Given the description of an element on the screen output the (x, y) to click on. 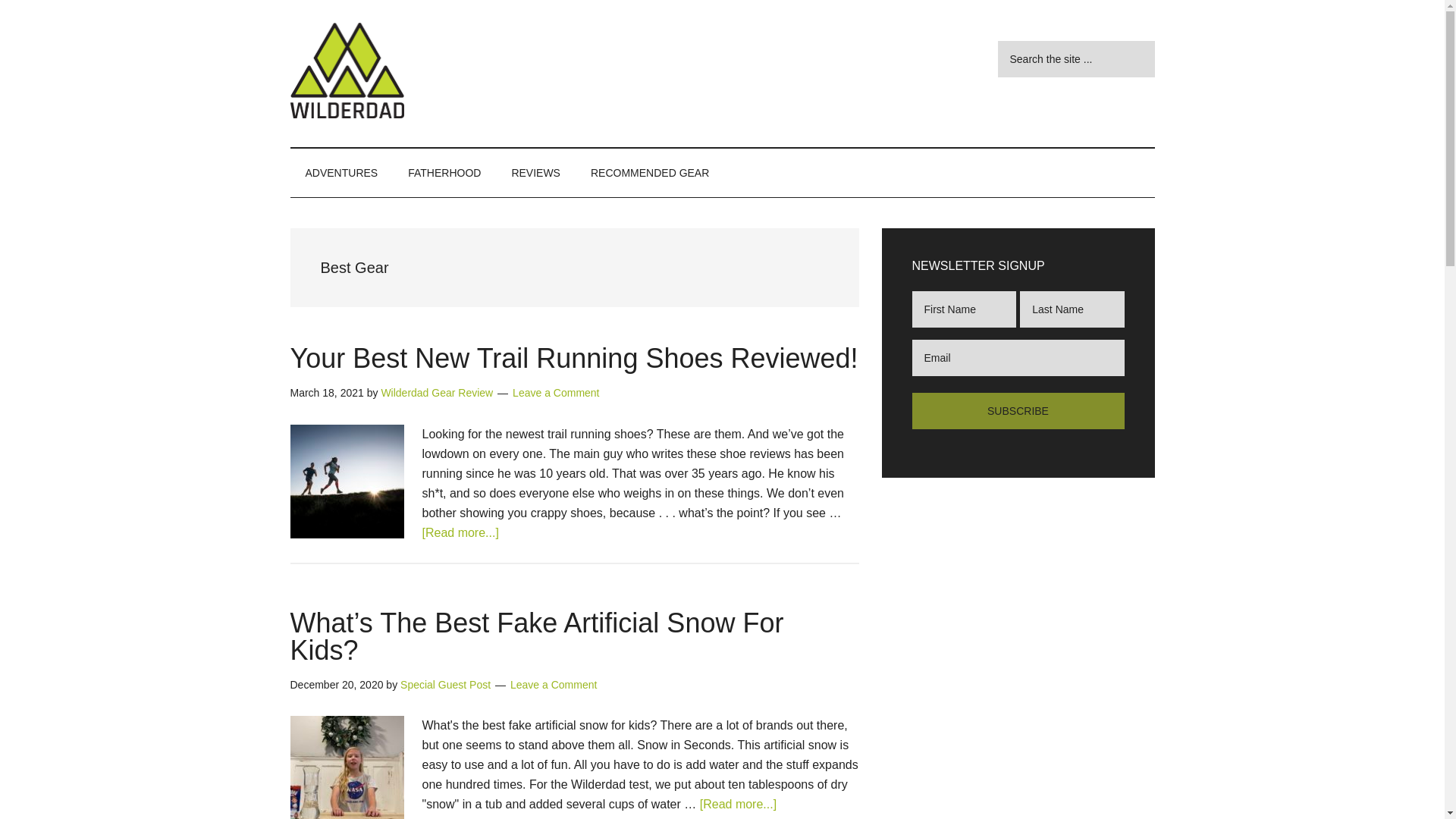
Special Guest Post (445, 684)
Wilderdad Gear Review (436, 392)
RECOMMENDED GEAR (649, 172)
ADVENTURES (341, 172)
FATHERHOOD (444, 172)
REVIEWS (535, 172)
Subscribe (1017, 411)
Your Best New Trail Running Shoes Reviewed! (573, 358)
Leave a Comment (553, 684)
Leave a Comment (555, 392)
